Given the description of an element on the screen output the (x, y) to click on. 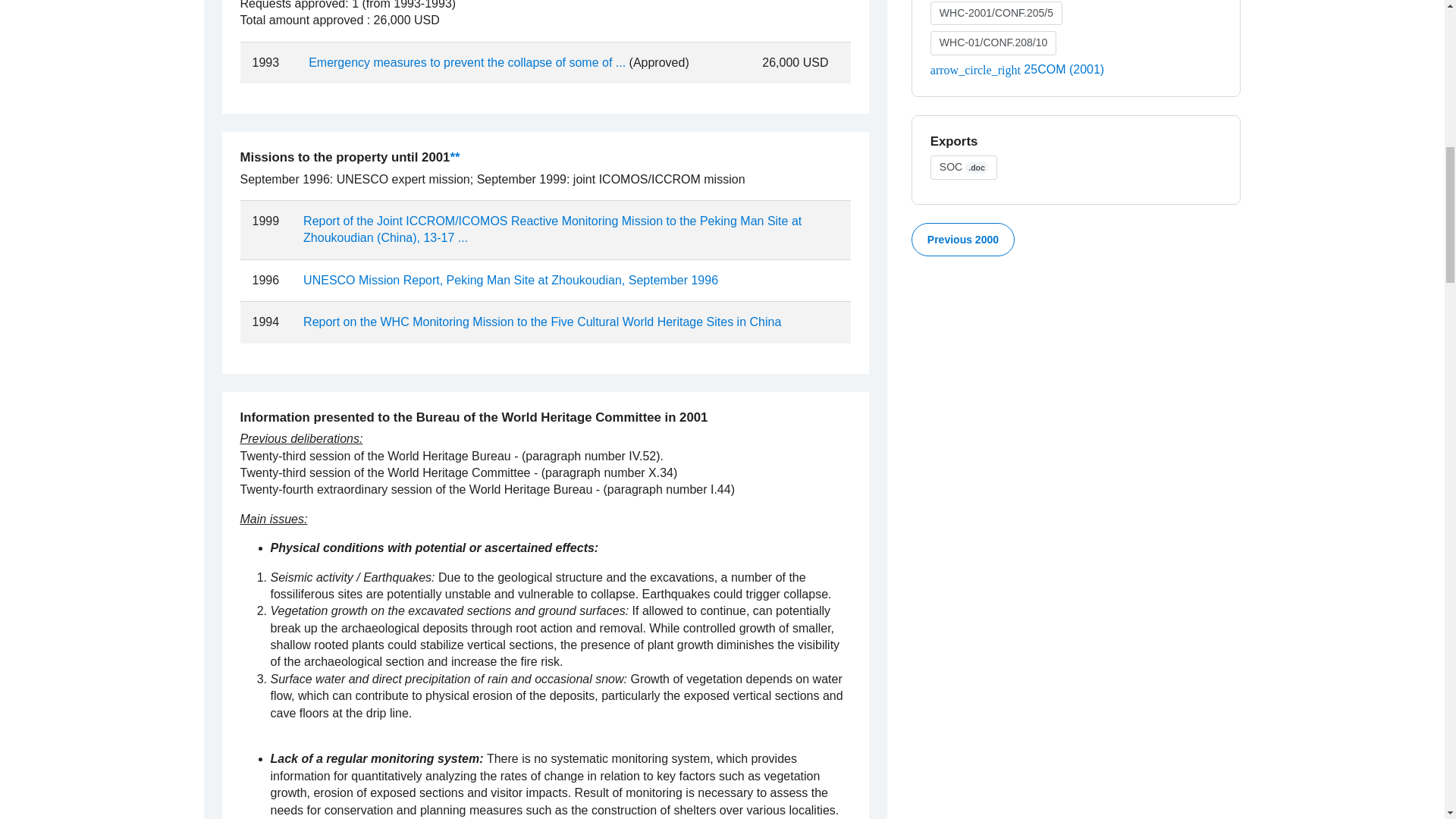
Consult this request (467, 62)
